Given the description of an element on the screen output the (x, y) to click on. 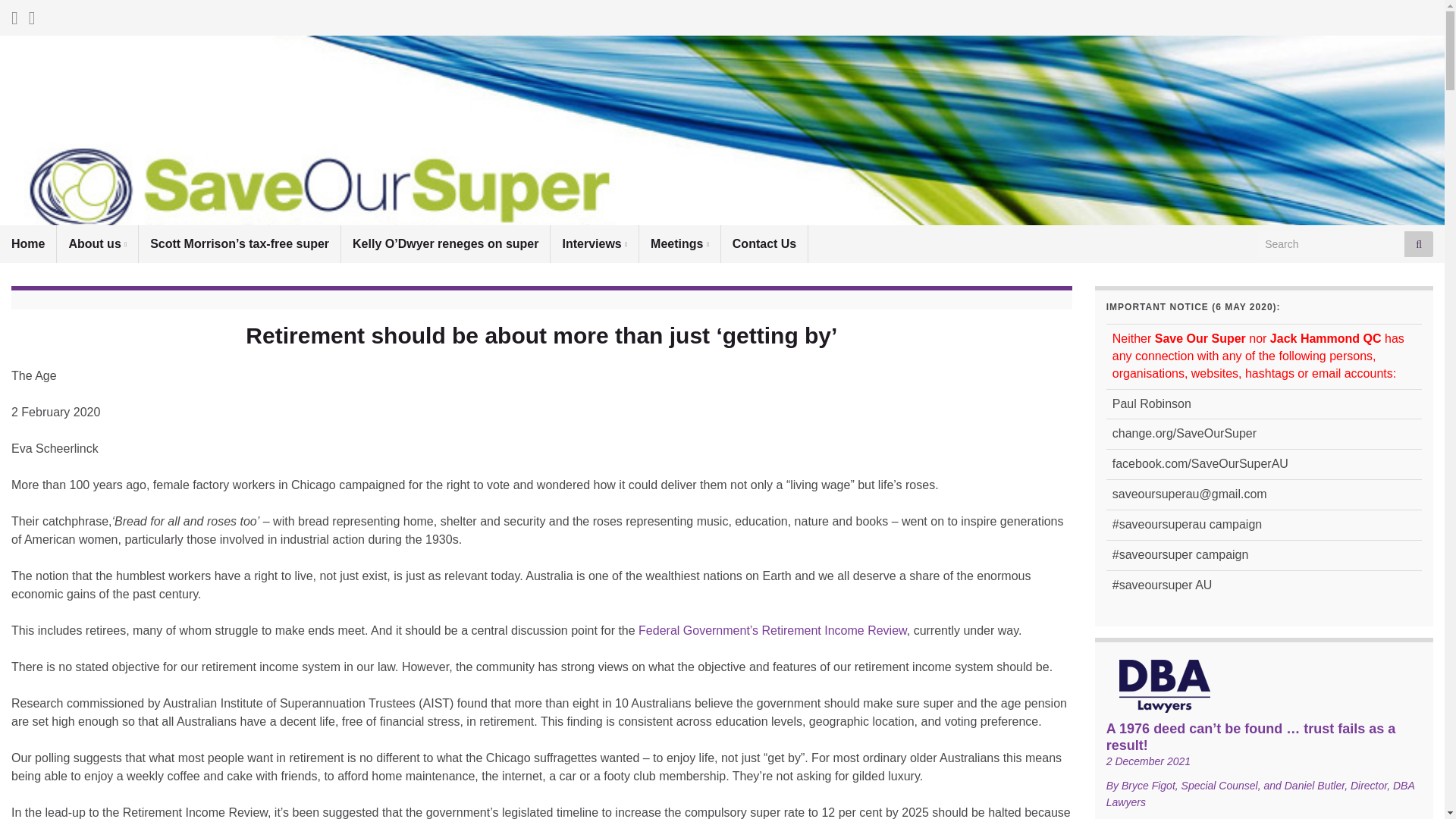
About us (97, 243)
Contact Us (764, 243)
Home (28, 243)
Interviews (594, 243)
Meetings (679, 243)
